Given the description of an element on the screen output the (x, y) to click on. 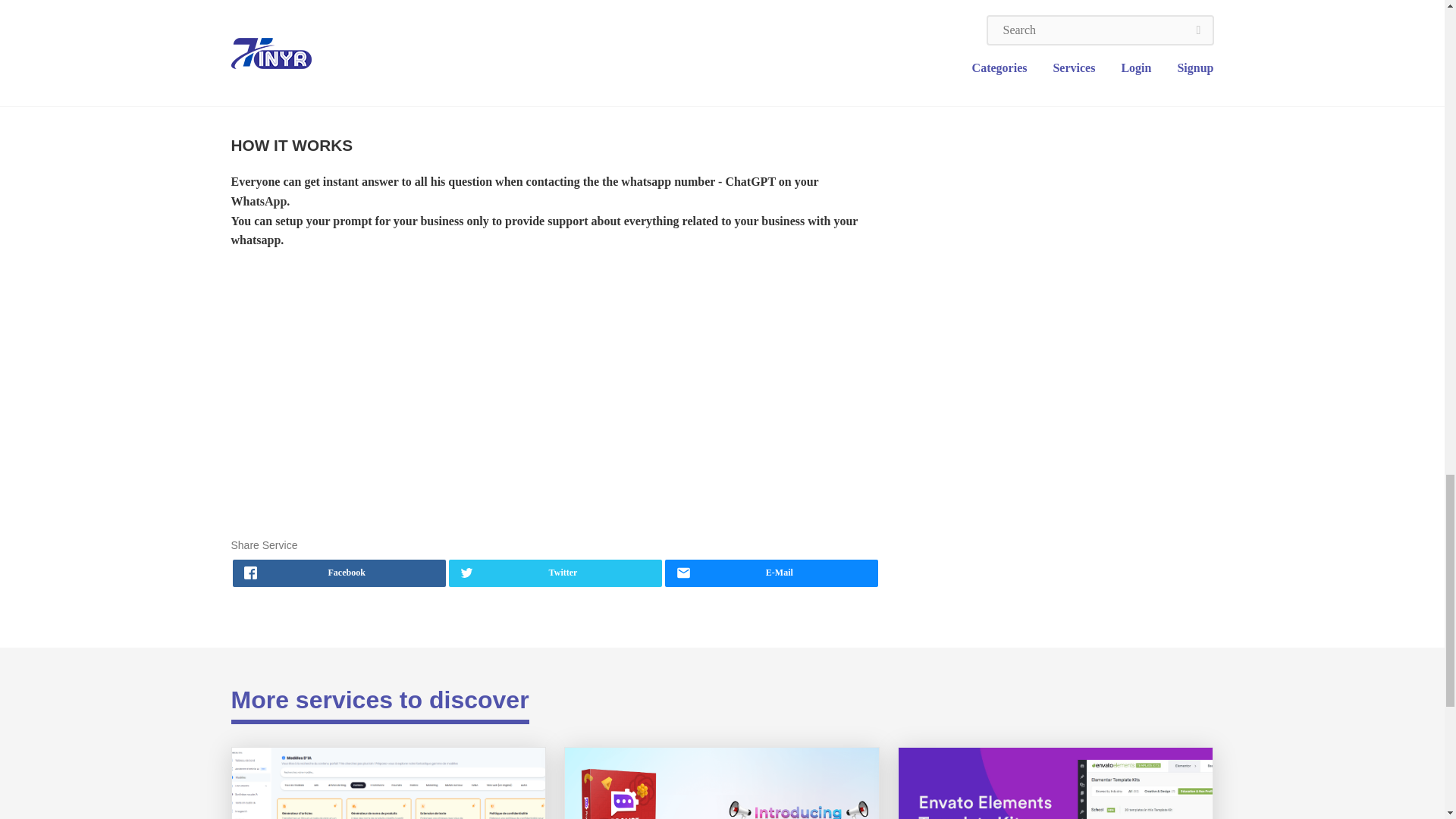
Twitter (555, 573)
E-Mail (771, 573)
Facebook (338, 573)
